Given the description of an element on the screen output the (x, y) to click on. 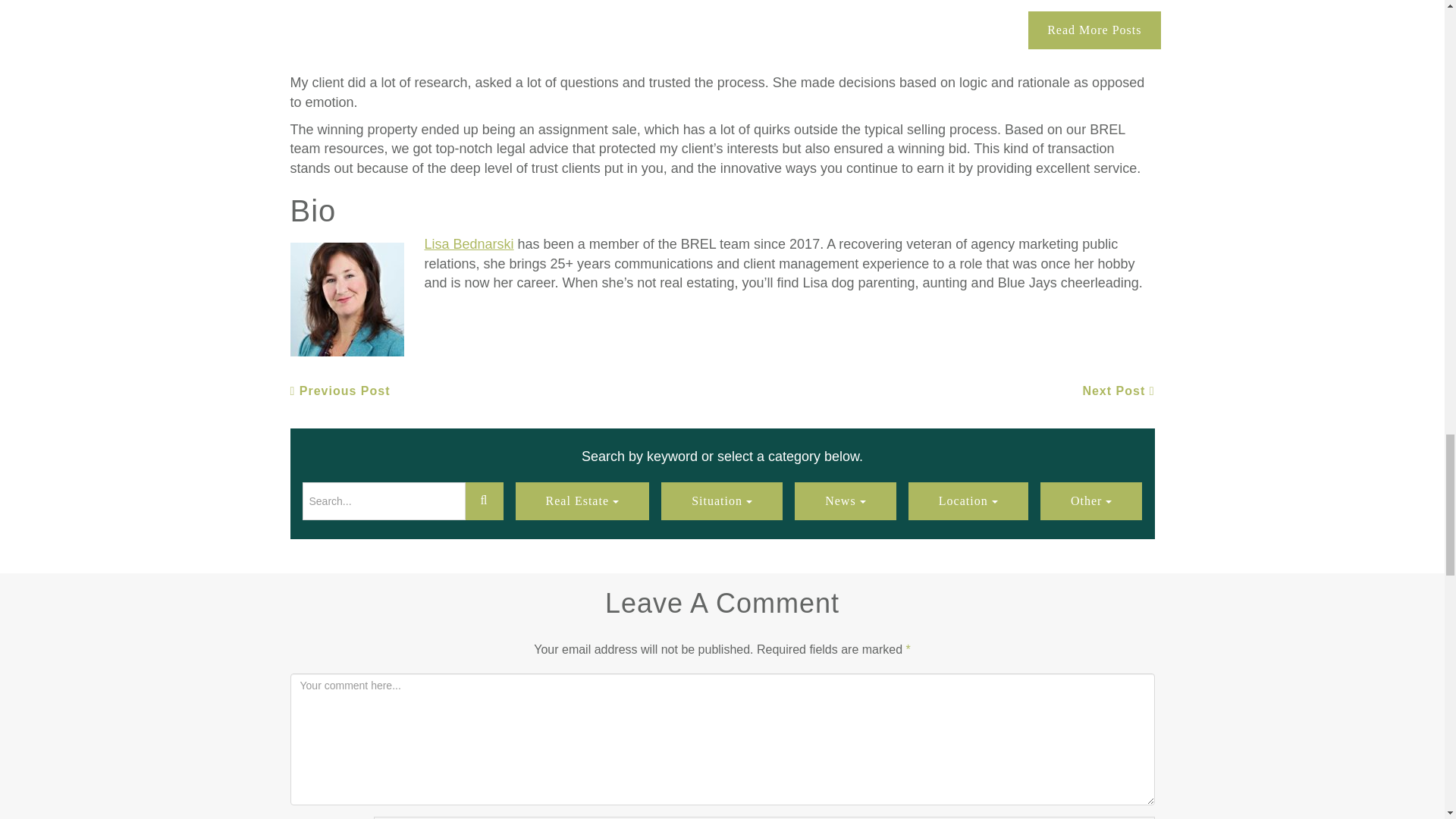
Search for: (382, 501)
